Given the description of an element on the screen output the (x, y) to click on. 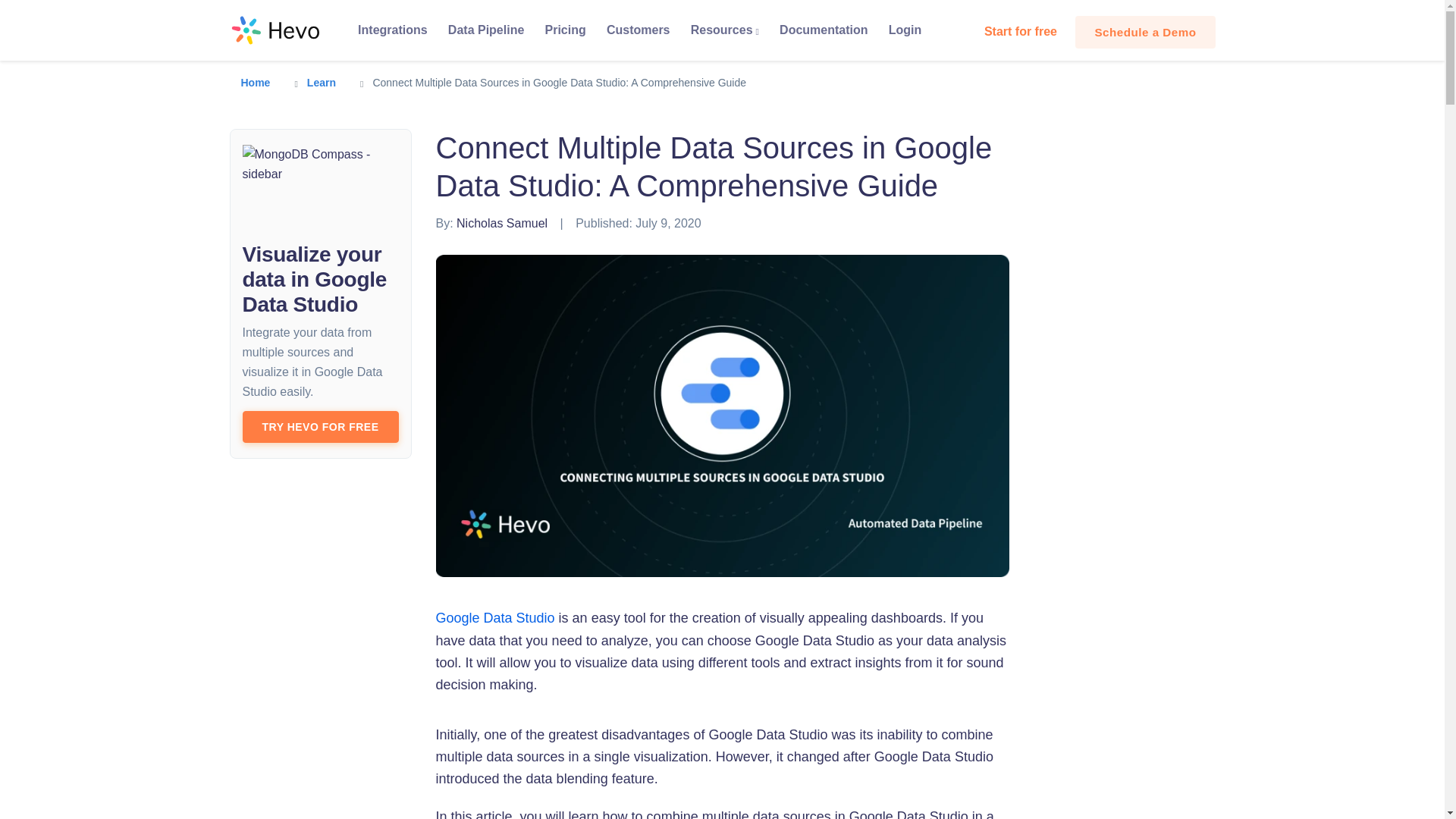
Home (255, 82)
Start for free (1021, 31)
Documentation (824, 30)
Google Data Studio (494, 617)
Pricing (564, 30)
TRY HEVO FOR FREE (320, 427)
Integrations (391, 30)
Customers (637, 30)
Resources (723, 30)
Schedule a Demo (1144, 31)
